Given the description of an element on the screen output the (x, y) to click on. 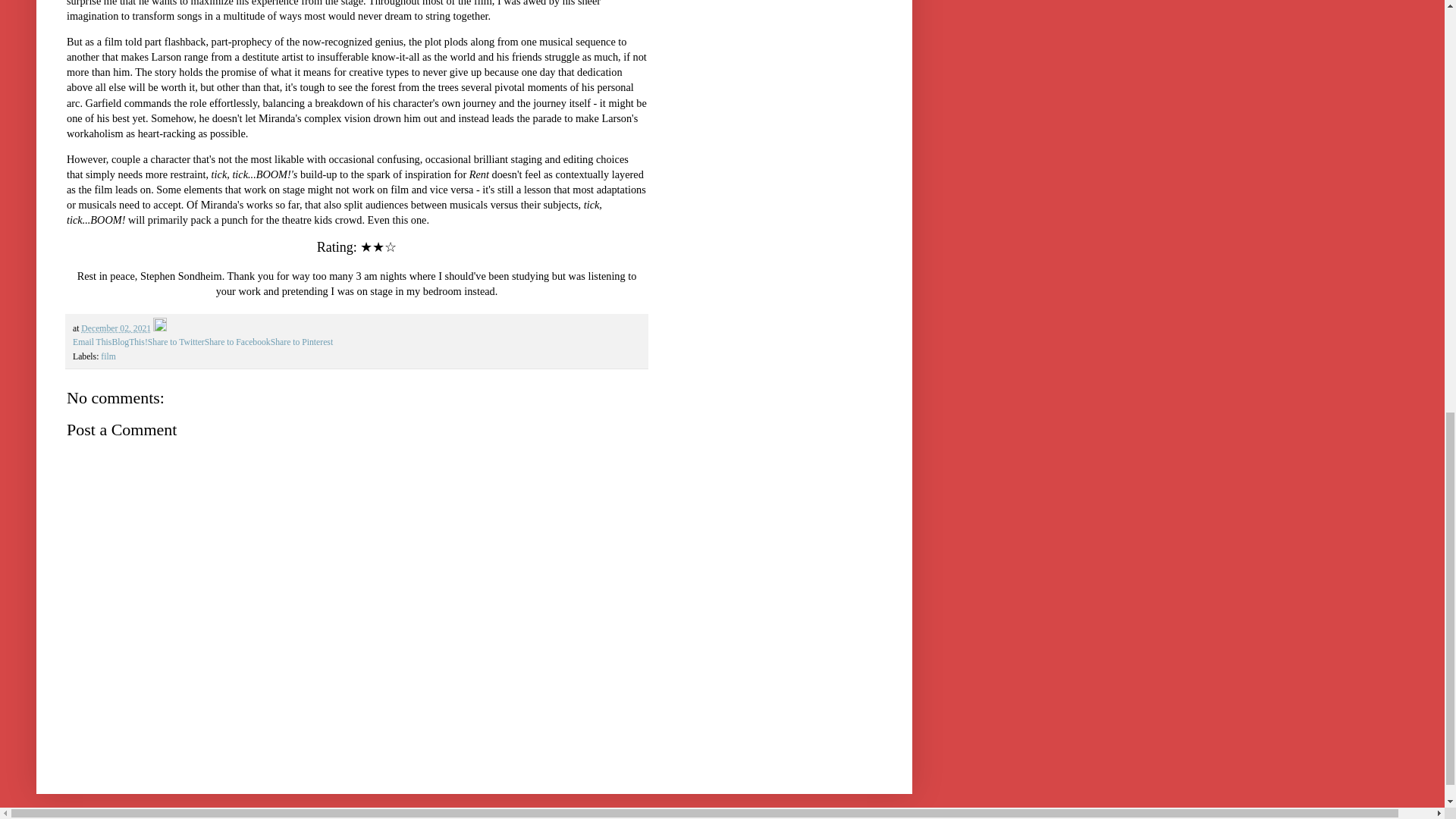
Share to Pinterest (301, 342)
permanent link (116, 328)
film (107, 356)
Share to Twitter (176, 342)
Share to Facebook (237, 342)
Edit Post (159, 328)
Share to Facebook (237, 342)
BlogThis! (129, 342)
December 02, 2021 (116, 328)
Email This (92, 342)
